Given the description of an element on the screen output the (x, y) to click on. 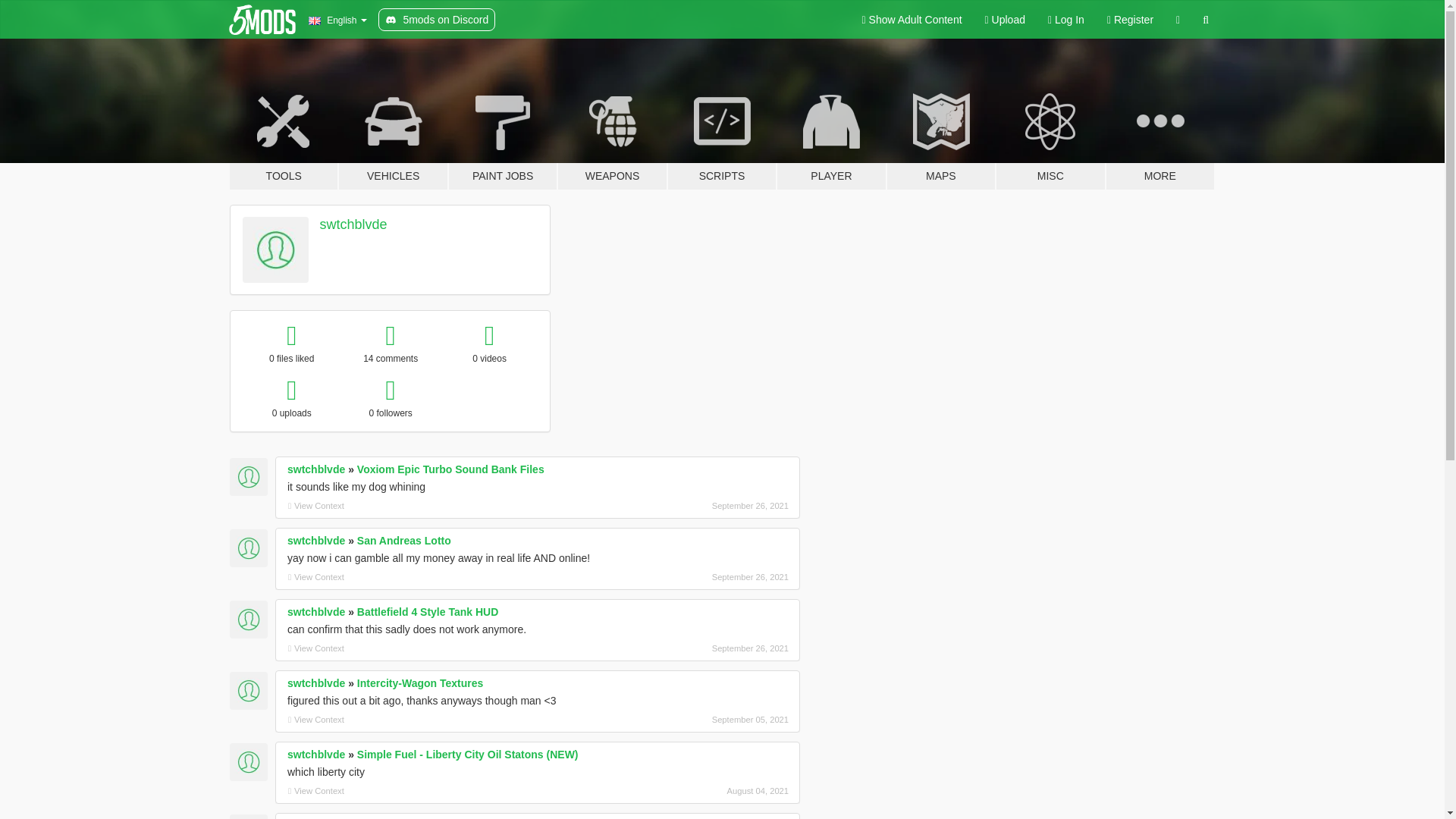
Log In (1066, 19)
Light mode (912, 19)
Register (1130, 19)
Show Adult Content (912, 19)
  English (337, 19)
Upload (1005, 19)
5mods on Discord (436, 19)
